Given the description of an element on the screen output the (x, y) to click on. 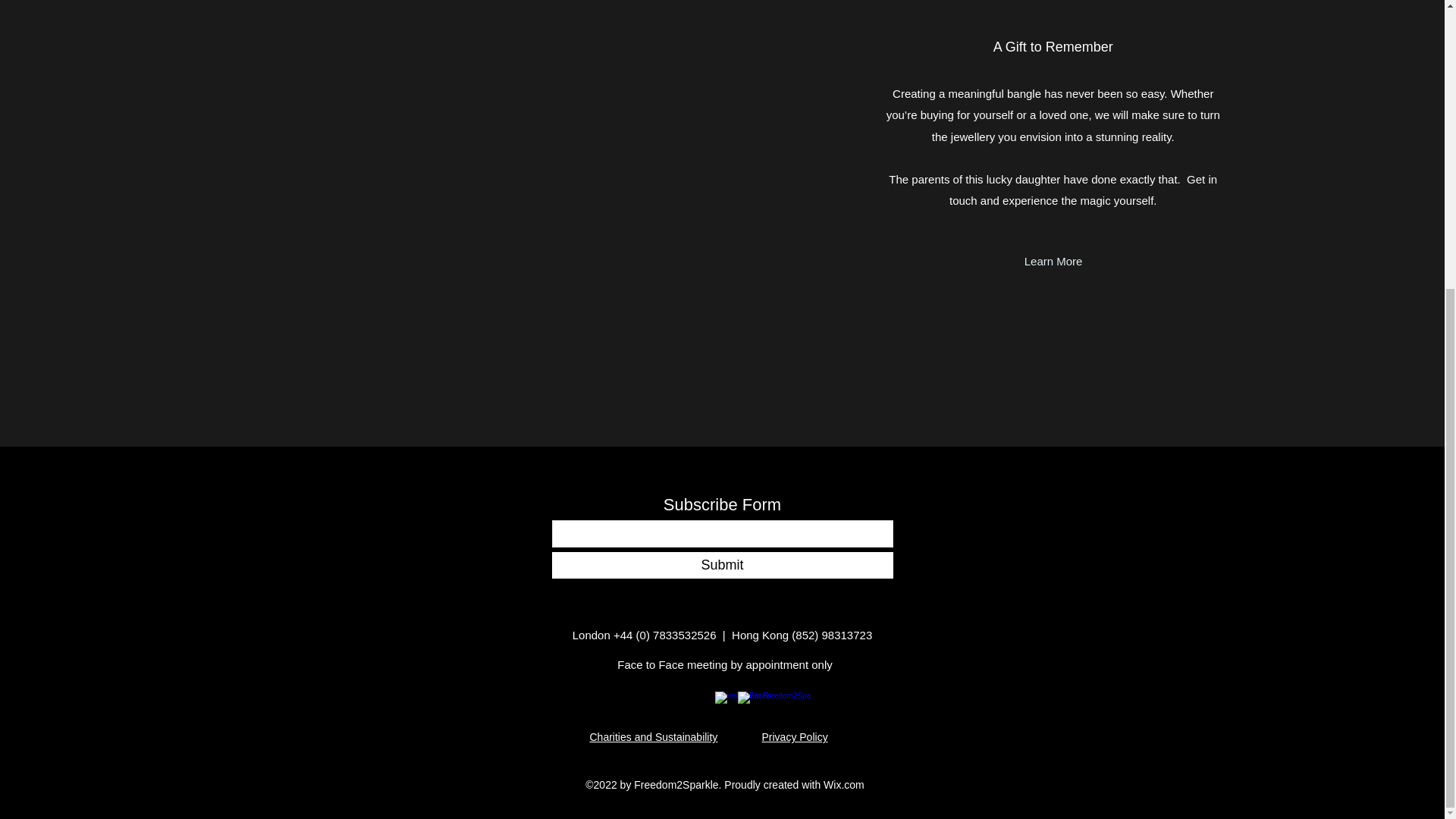
Privacy Policy (794, 736)
Submit (722, 565)
Charities and Sustainability (653, 736)
Learn More (1054, 261)
